Given the description of an element on the screen output the (x, y) to click on. 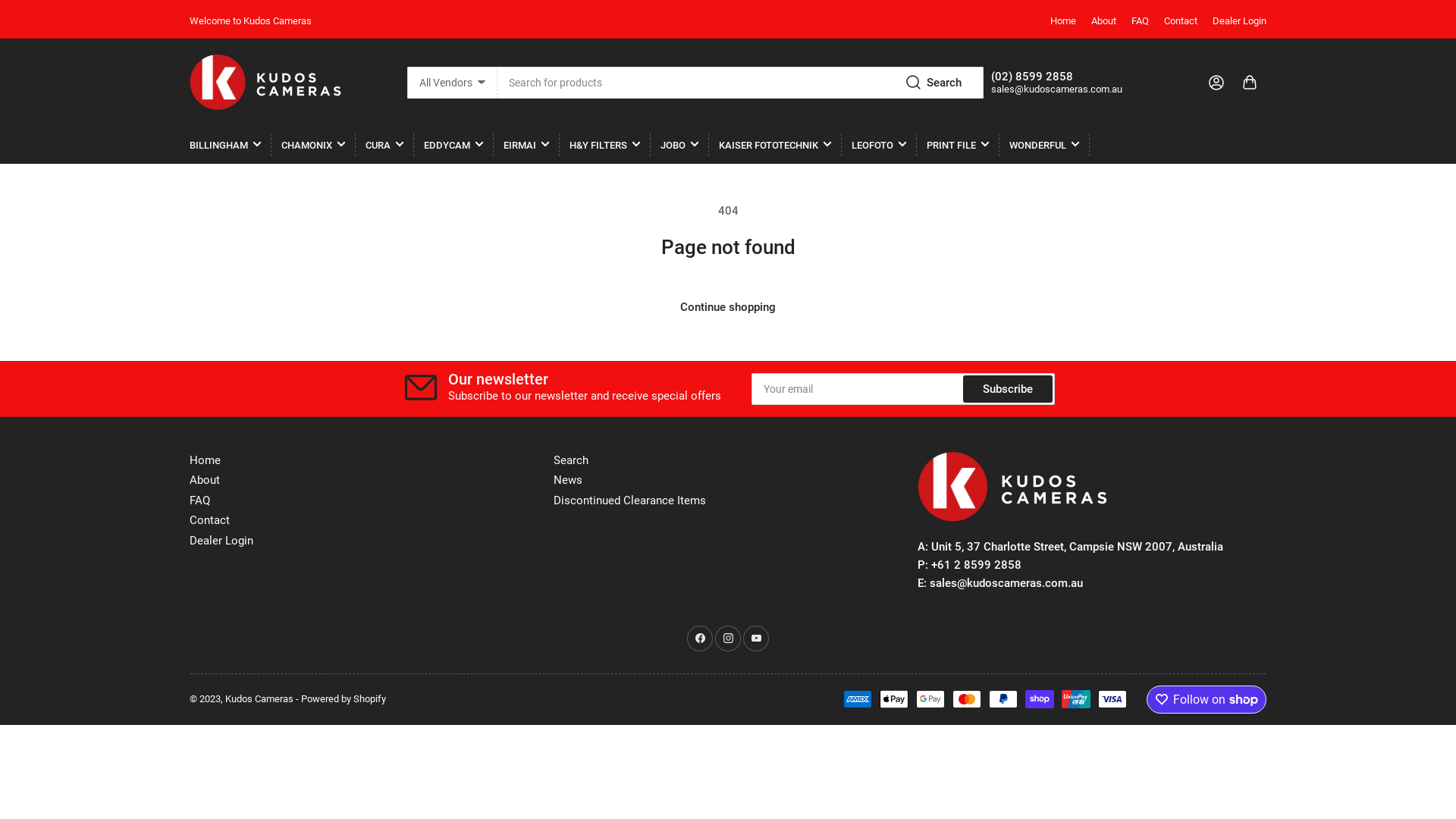
EDDYCAM Element type: text (453, 144)
Home Element type: text (1063, 20)
FAQ Element type: text (1139, 20)
EIRMAI Element type: text (526, 144)
Dealer Login Element type: text (1239, 20)
About Element type: text (204, 479)
Instagram Element type: text (727, 638)
Continue shopping Element type: text (727, 307)
H&Y FILTERS Element type: text (604, 144)
Search Element type: text (570, 460)
Subscribe Element type: text (1007, 388)
Search Element type: text (934, 82)
News Element type: text (567, 479)
KAISER FOTOTECHNIK Element type: text (774, 144)
Dealer Login Element type: text (221, 540)
Powered by Shopify Element type: text (343, 698)
Log in Element type: text (1216, 81)
Contact Element type: text (209, 520)
PRINT FILE Element type: text (957, 144)
Home Element type: text (204, 460)
Open mini cart Element type: text (1249, 81)
Discontinued Clearance Items Element type: text (629, 500)
CHAMONIX Element type: text (313, 144)
YouTube Element type: text (755, 638)
LEOFOTO Element type: text (878, 144)
CURA Element type: text (384, 144)
Contact Element type: text (1180, 20)
WONDERFUL Element type: text (1044, 144)
JOBO Element type: text (679, 144)
Kudos Cameras Element type: text (259, 698)
About Element type: text (1103, 20)
BILLINGHAM Element type: text (224, 144)
Facebook Element type: text (699, 638)
FAQ Element type: text (199, 500)
